Given the description of an element on the screen output the (x, y) to click on. 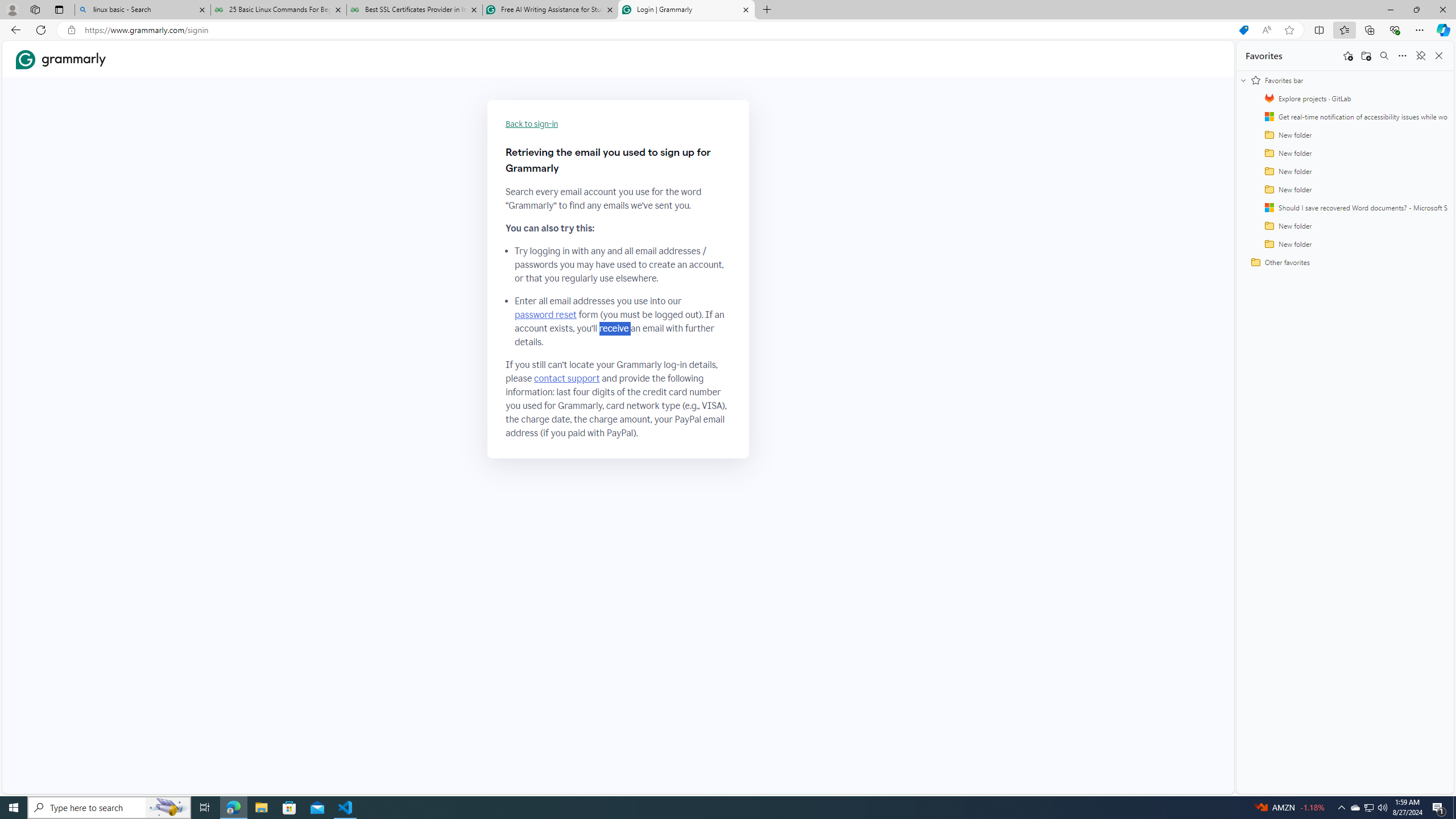
password reset (545, 314)
Back to sign-in (532, 124)
Grammarly Home (61, 59)
Add folder (1366, 55)
